Given the description of an element on the screen output the (x, y) to click on. 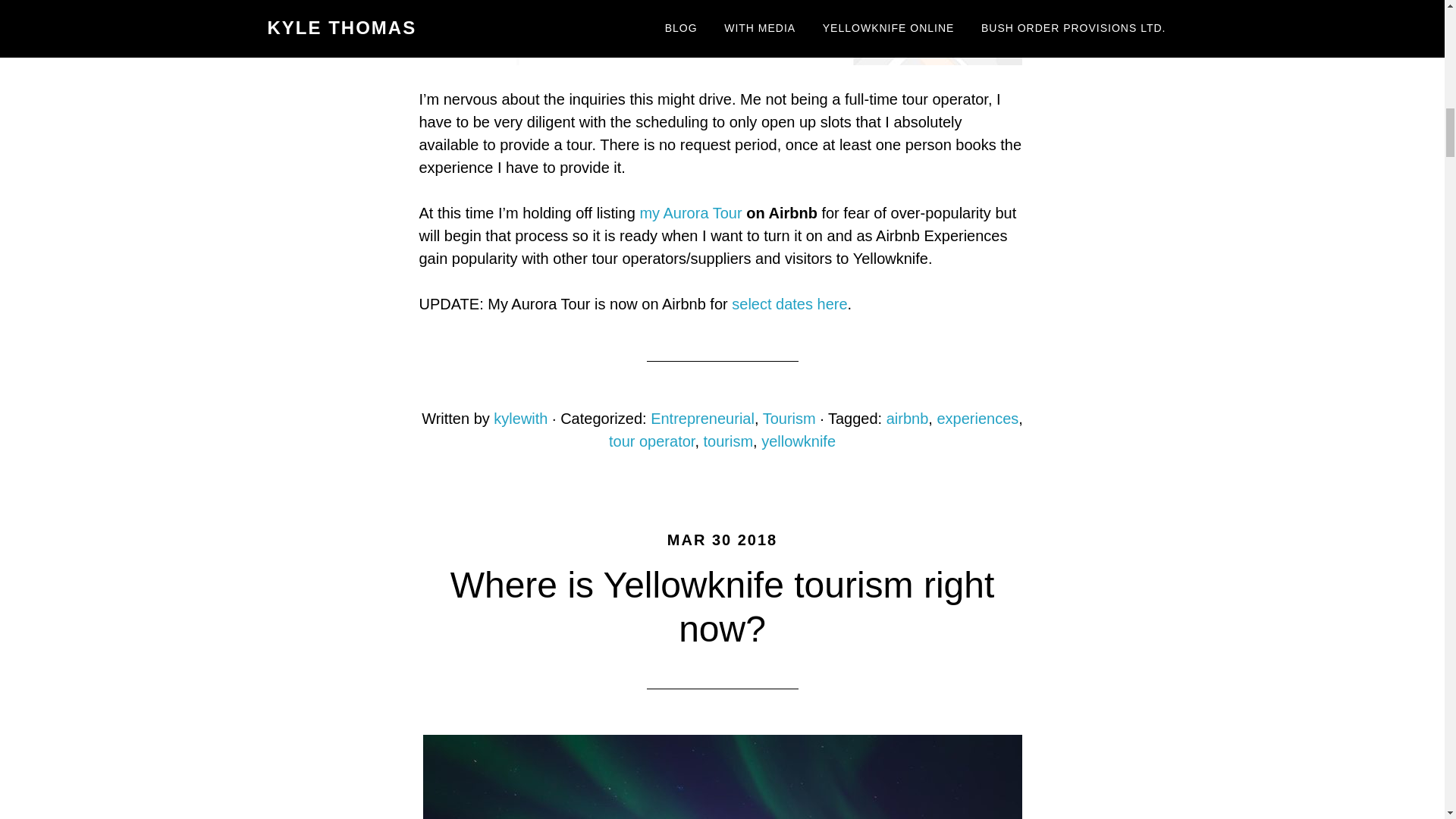
Tourism (788, 418)
tour operator (651, 441)
select dates here (789, 303)
airbnb (907, 418)
Entrepreneurial (702, 418)
my Aurora Tour (690, 212)
yellowknife (798, 441)
Where is Yellowknife tourism right now? (721, 607)
experiences (976, 418)
kylewith (520, 418)
tourism (728, 441)
